Given the description of an element on the screen output the (x, y) to click on. 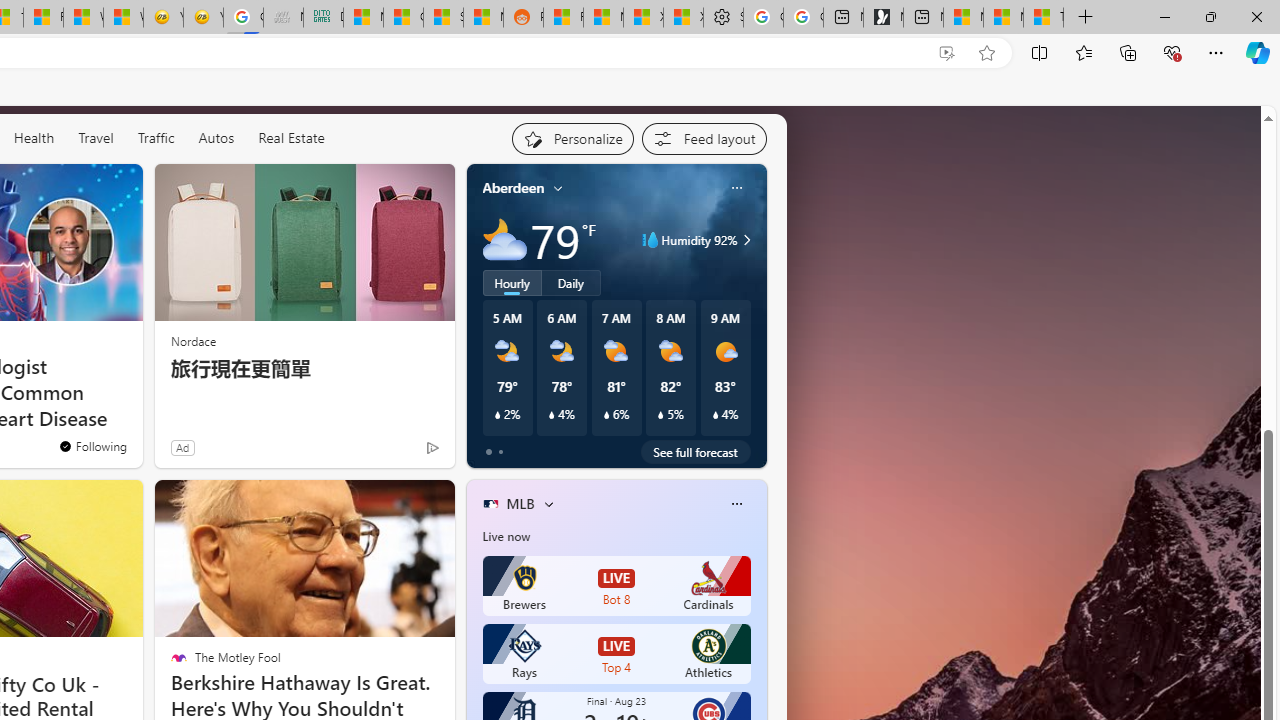
Brewers LIVE Bot 8 Cardinals (616, 585)
R******* | Trusted Community Engagement and Contributions (563, 17)
Humidity 92% (744, 240)
These 3 Stocks Pay You More Than 5% to Own Them (1043, 17)
You're following Newsweek (92, 445)
More interests (548, 503)
Hourly (511, 282)
